Given the description of an element on the screen output the (x, y) to click on. 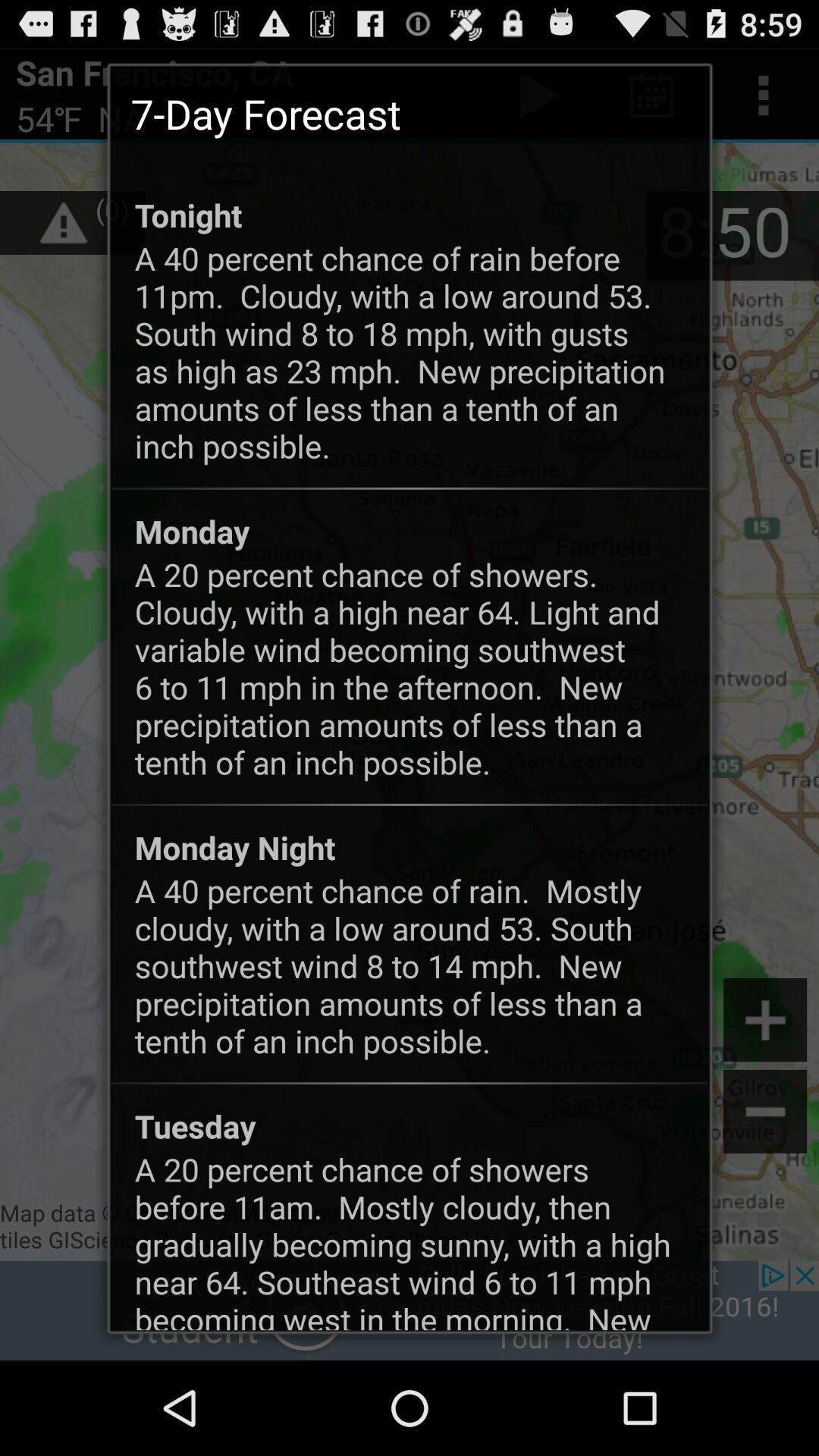
press monday night app (234, 847)
